Given the description of an element on the screen output the (x, y) to click on. 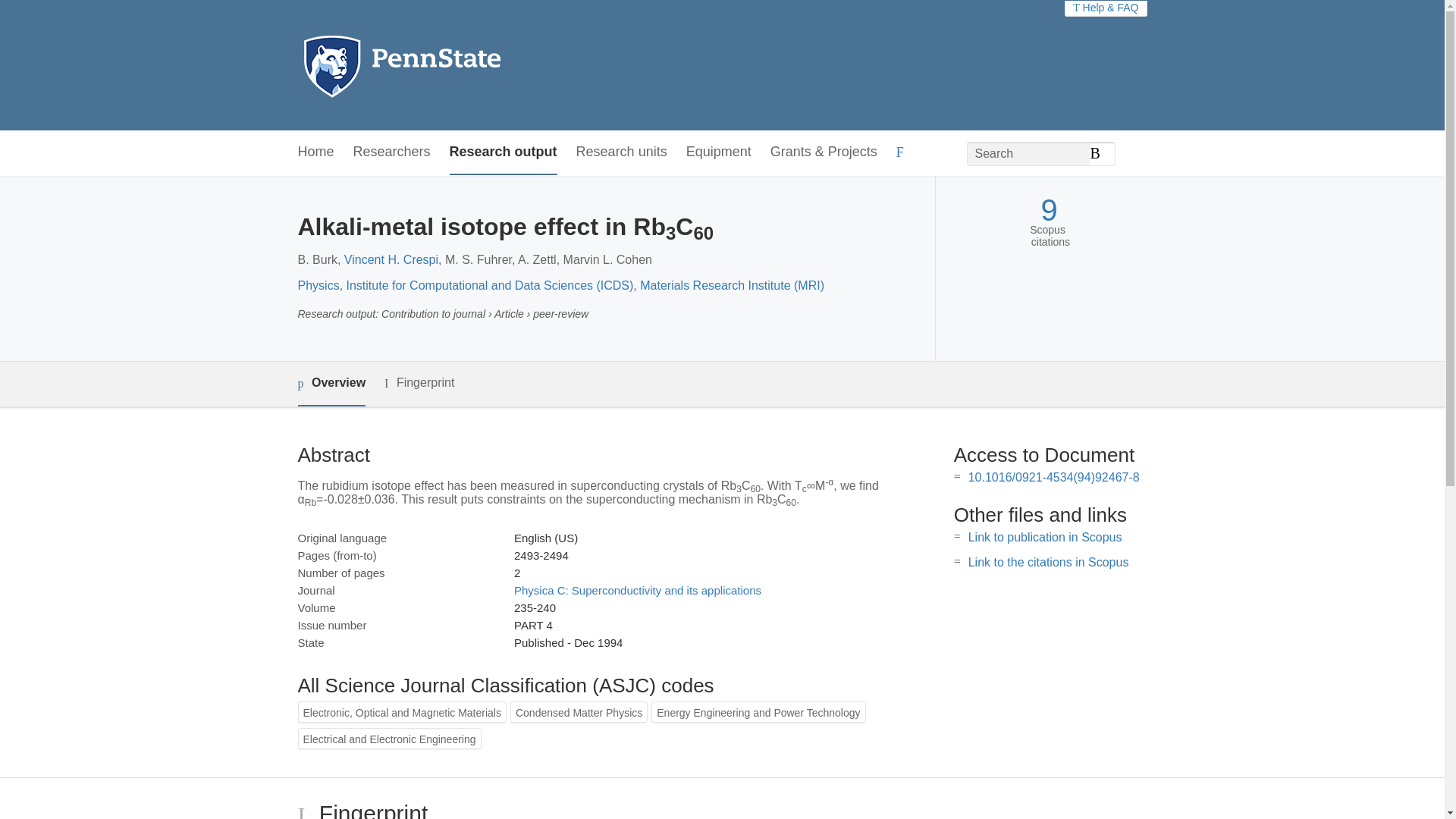
Penn State Home (467, 65)
Fingerprint (419, 382)
Physica C: Superconductivity and its applications (637, 590)
Physics (318, 285)
Research units (621, 152)
Overview (331, 383)
Researchers (391, 152)
Link to publication in Scopus (1045, 536)
Research output (503, 152)
Link to the citations in Scopus (1048, 562)
Vincent H. Crespi (390, 259)
Equipment (718, 152)
